Given the description of an element on the screen output the (x, y) to click on. 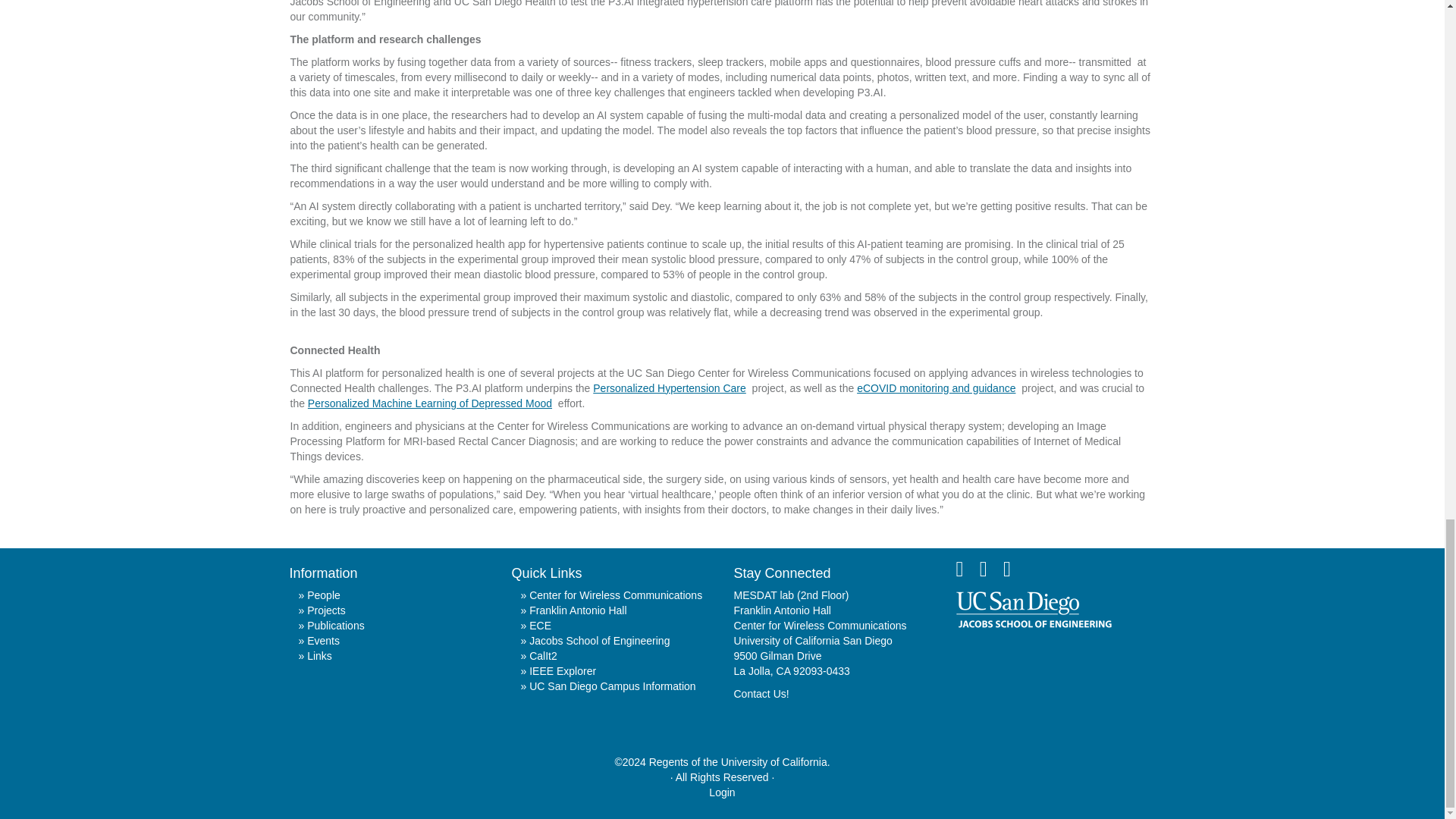
UC San Diego Campus Information (607, 686)
Contact Us! (761, 693)
Links (314, 655)
Login (722, 792)
Jacobs School of Engineering (594, 640)
Electrical and Computer Engineering Department (534, 625)
Center for Wireless Communications (610, 594)
IEEE Explorer (557, 671)
People (319, 594)
ECE (534, 625)
Publications (331, 625)
Events (319, 640)
Personalized Hypertension Care (670, 387)
Publications (331, 625)
Personalized Machine Learning of Depressed Mood (430, 403)
